Given the description of an element on the screen output the (x, y) to click on. 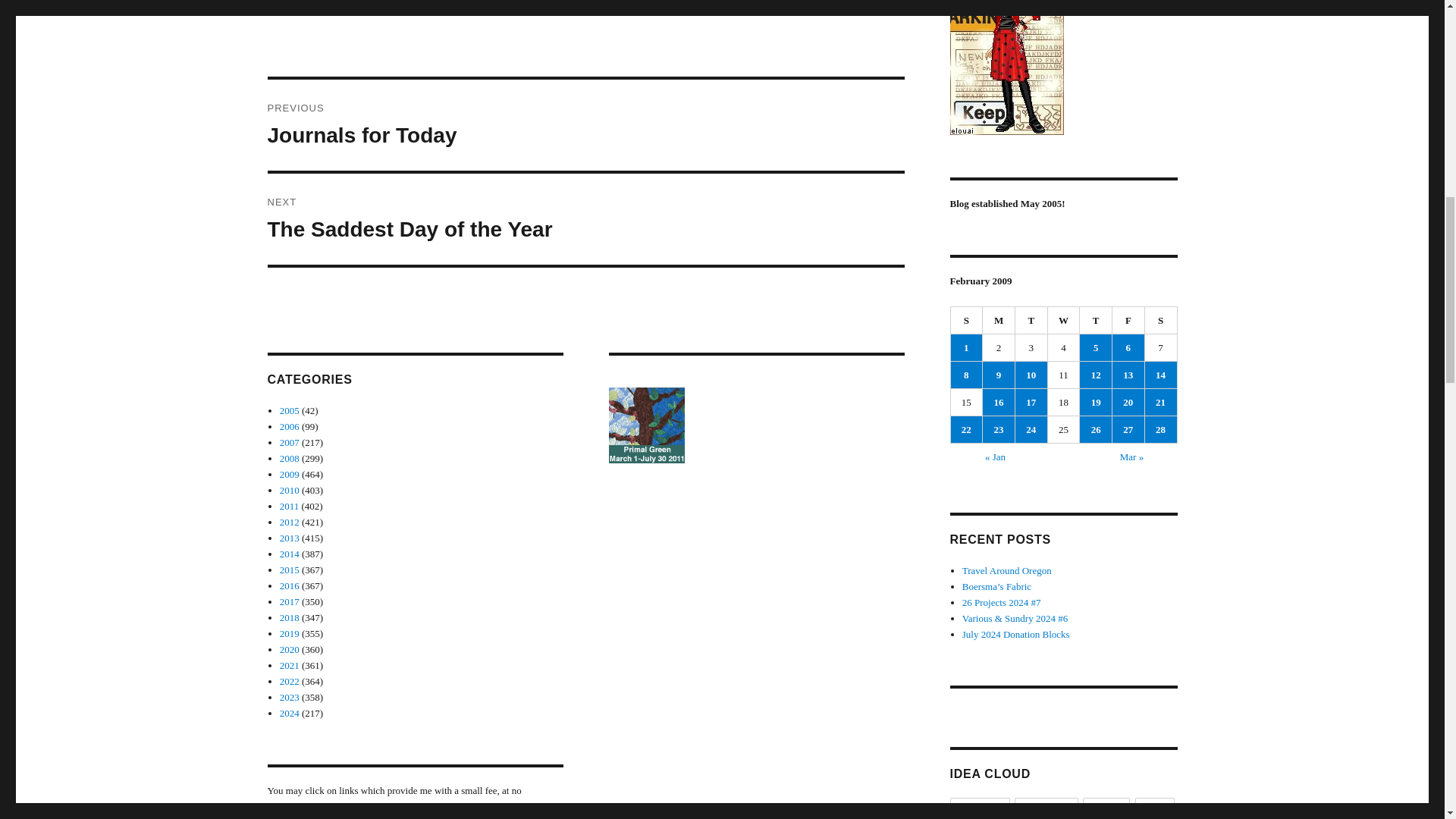
Thursday (1096, 320)
Tuesday (1031, 320)
Jaye, Artquiltmaker.com (1062, 67)
Saturday (1160, 320)
Monday (998, 320)
Wednesday (1064, 320)
Friday (1128, 320)
Sunday (967, 320)
